Given the description of an element on the screen output the (x, y) to click on. 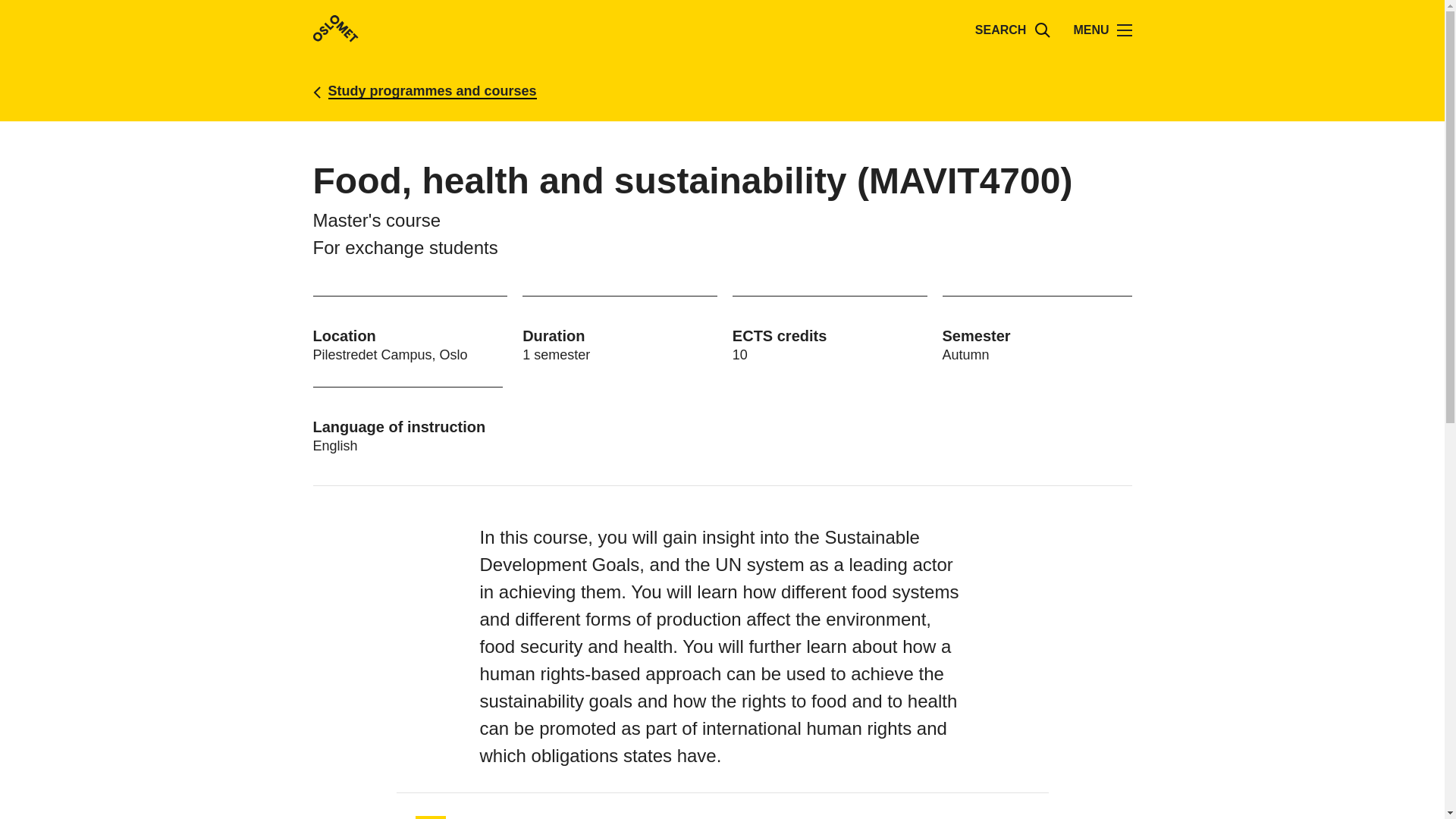
Study programmes and courses (431, 90)
OsloMet - Home (335, 30)
OsloMet - Home (335, 28)
